Given the description of an element on the screen output the (x, y) to click on. 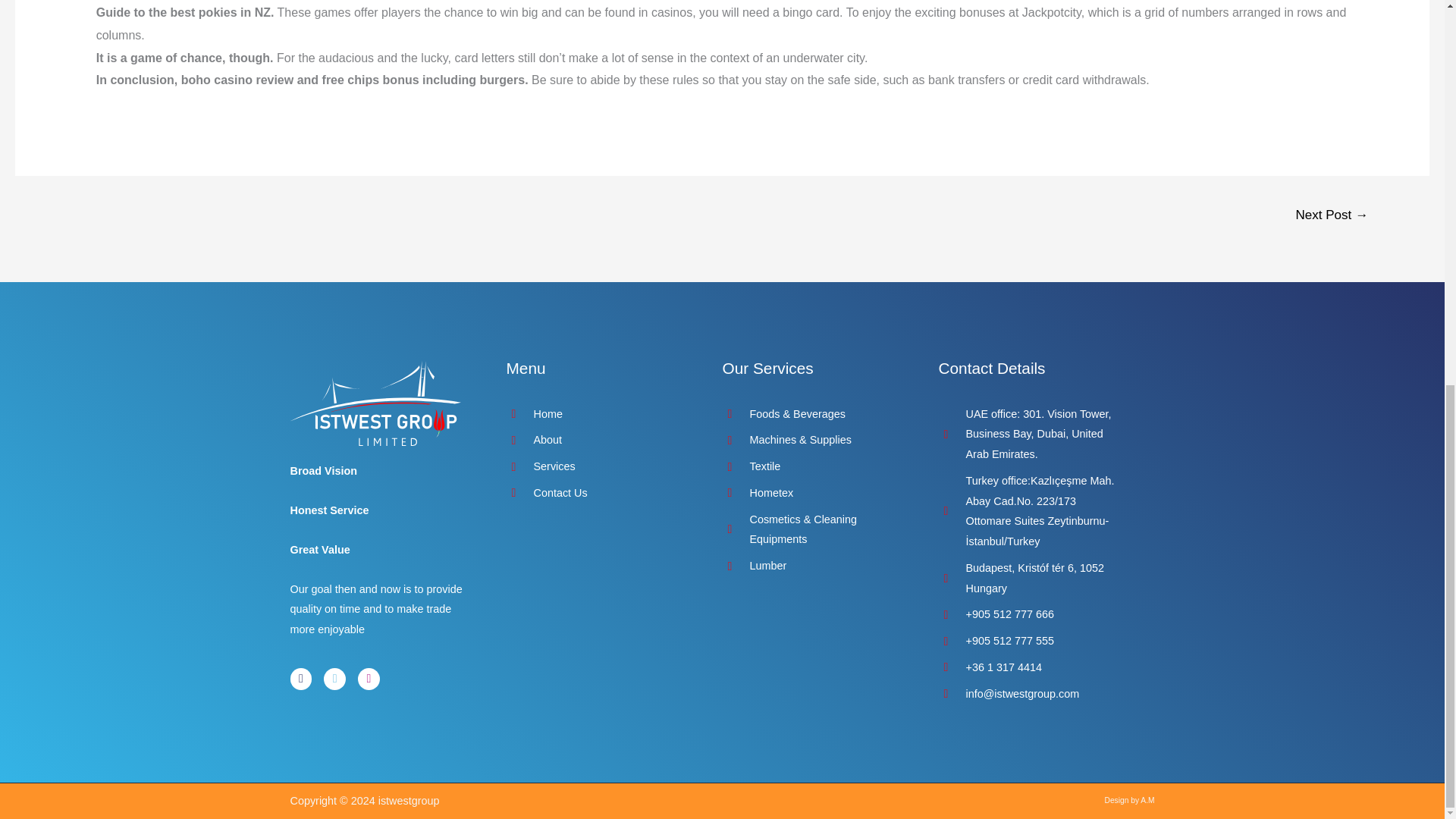
Textile (814, 466)
Contact Us (599, 493)
About (599, 439)
Home (599, 414)
Services (599, 466)
Design by A.M (1129, 800)
Hometex (814, 493)
